Given the description of an element on the screen output the (x, y) to click on. 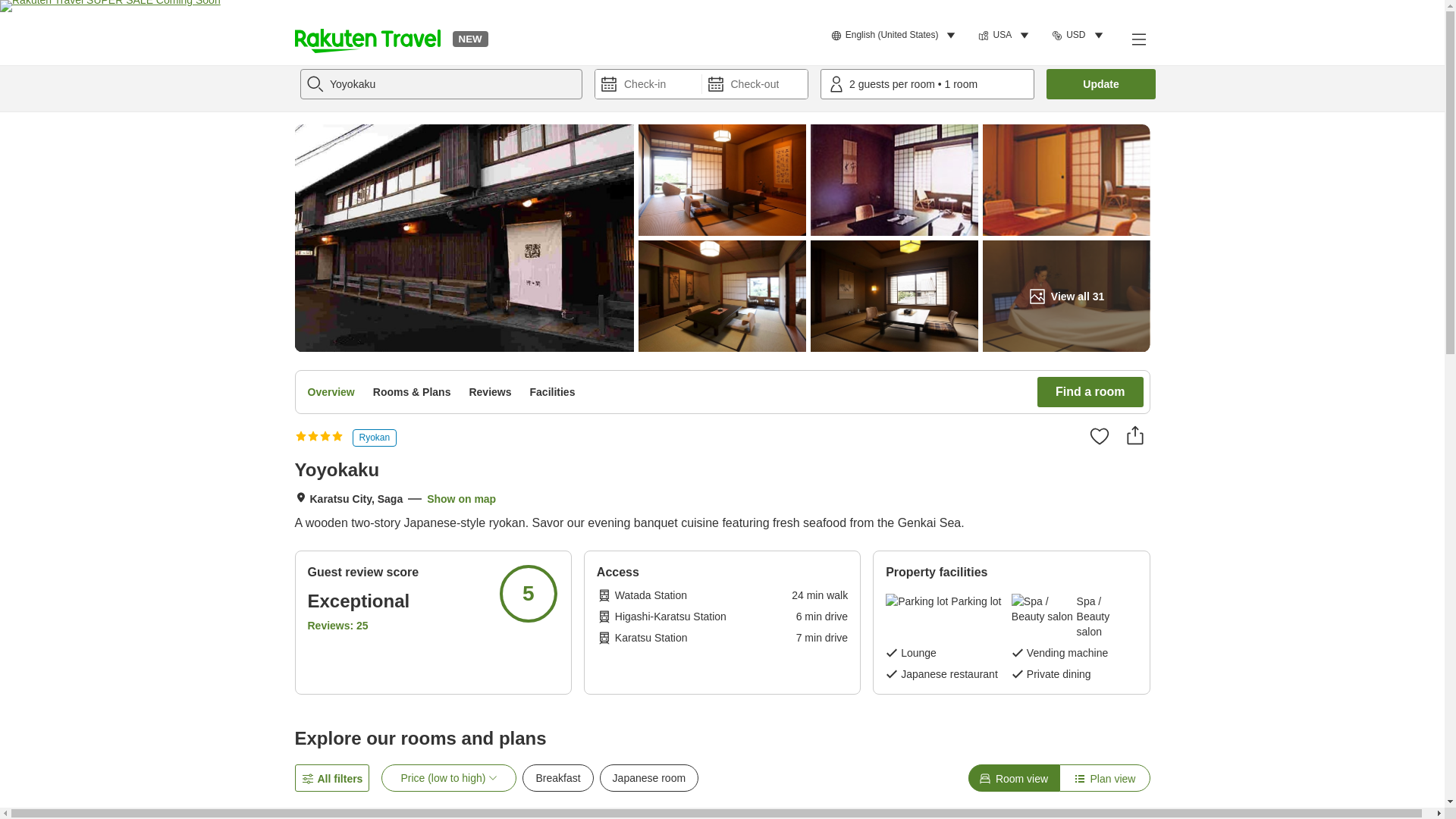
Yoyokaku (440, 83)
Yoyokaku (440, 83)
Japanese room (648, 777)
Plan view (1104, 777)
Find a room (1089, 391)
View all 31 (1066, 296)
Breakfast (557, 777)
NEW (469, 37)
All filters (331, 777)
Check-out (754, 83)
